Given the description of an element on the screen output the (x, y) to click on. 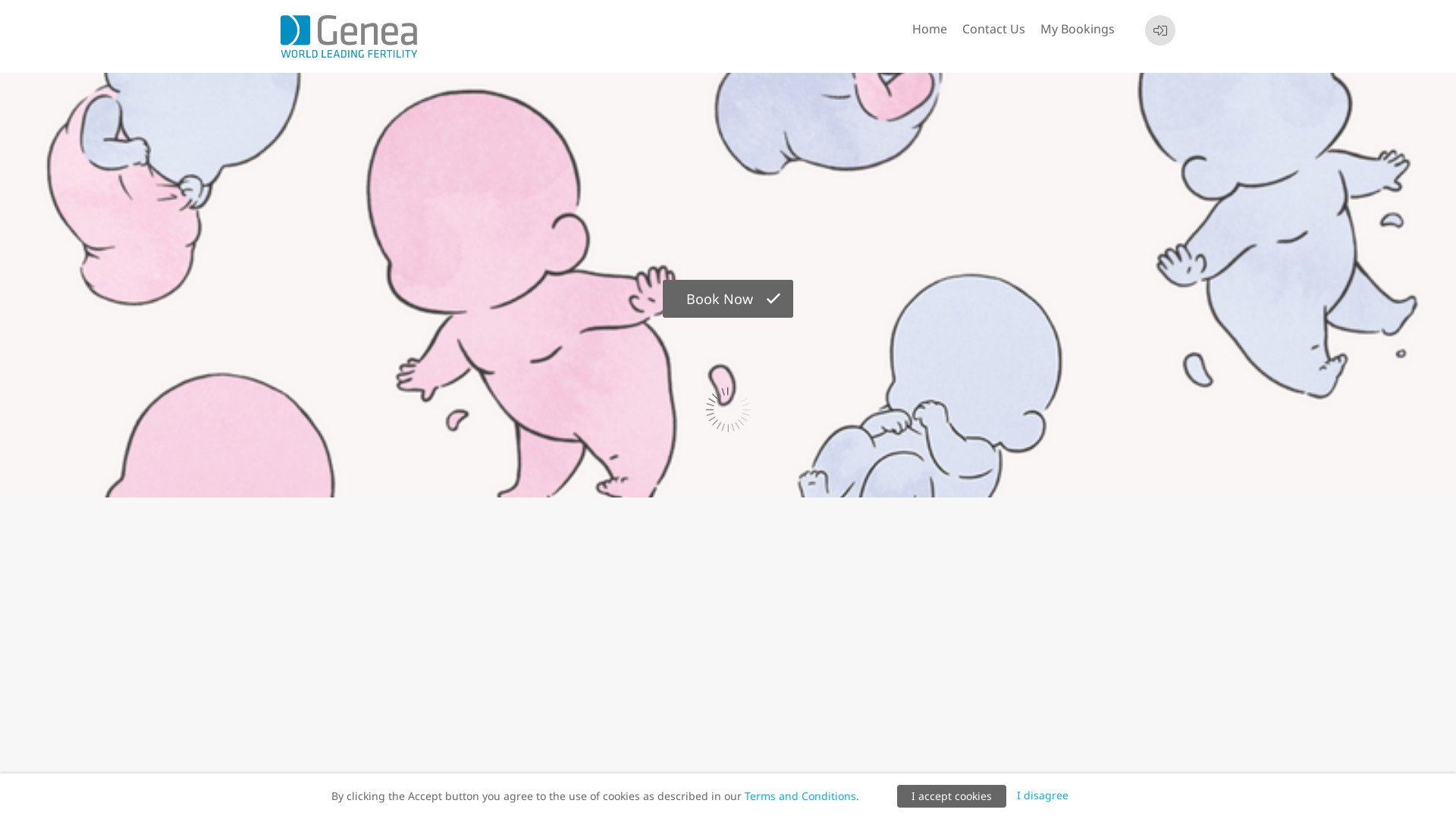
I disagree Element type: text (1042, 794)
My Bookings Element type: text (1077, 29)
Terms and Conditions Element type: text (800, 795)
Genea appointment bookings email terms and conditions Element type: text (727, 802)
Book Now Element type: text (727, 298)
Contact Us Element type: text (993, 29)
Home Element type: text (929, 29)
I accept cookies Element type: text (951, 795)
